Given the description of an element on the screen output the (x, y) to click on. 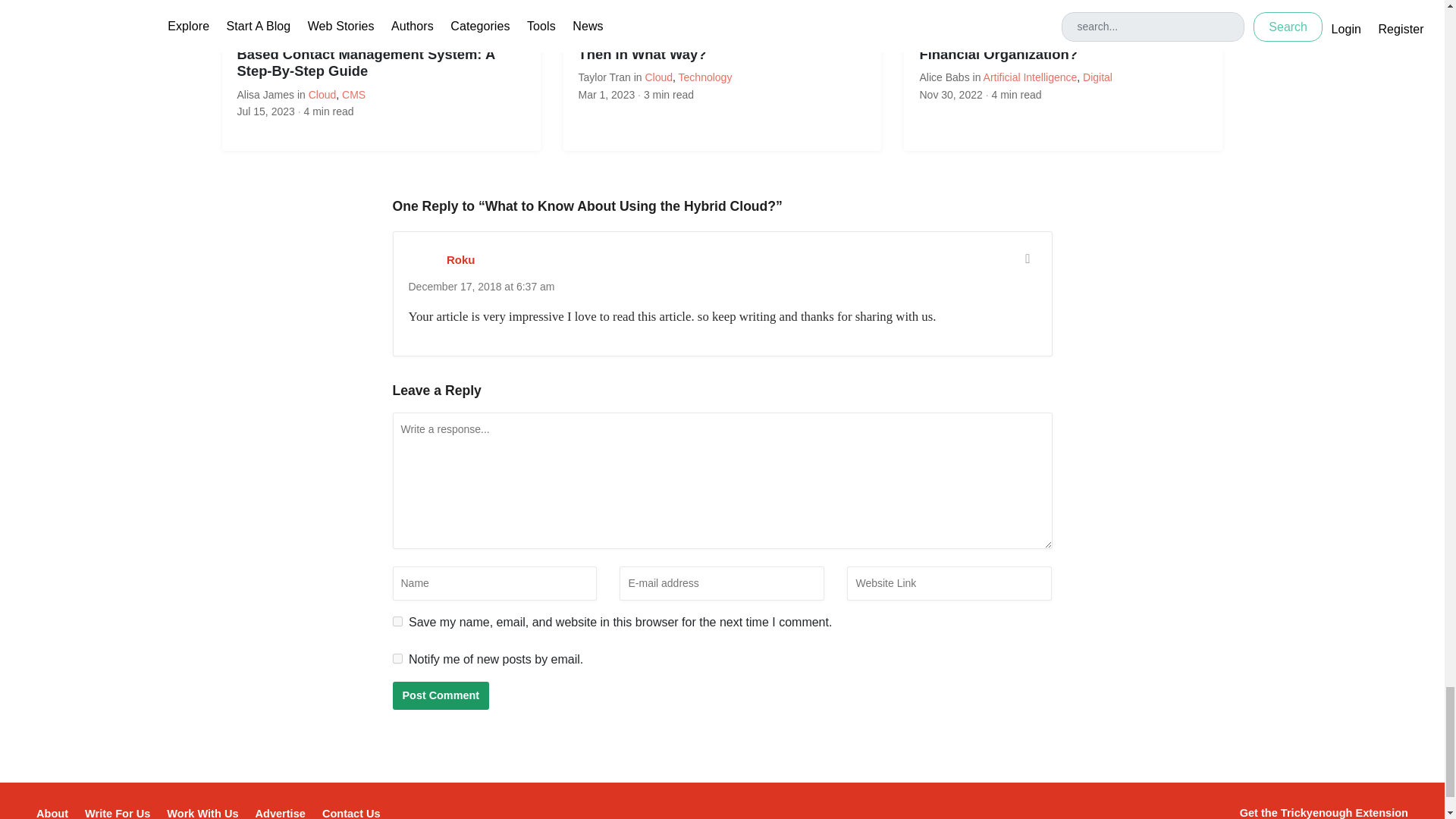
yes (398, 621)
subscribe (398, 658)
Post Comment (441, 695)
